Given the description of an element on the screen output the (x, y) to click on. 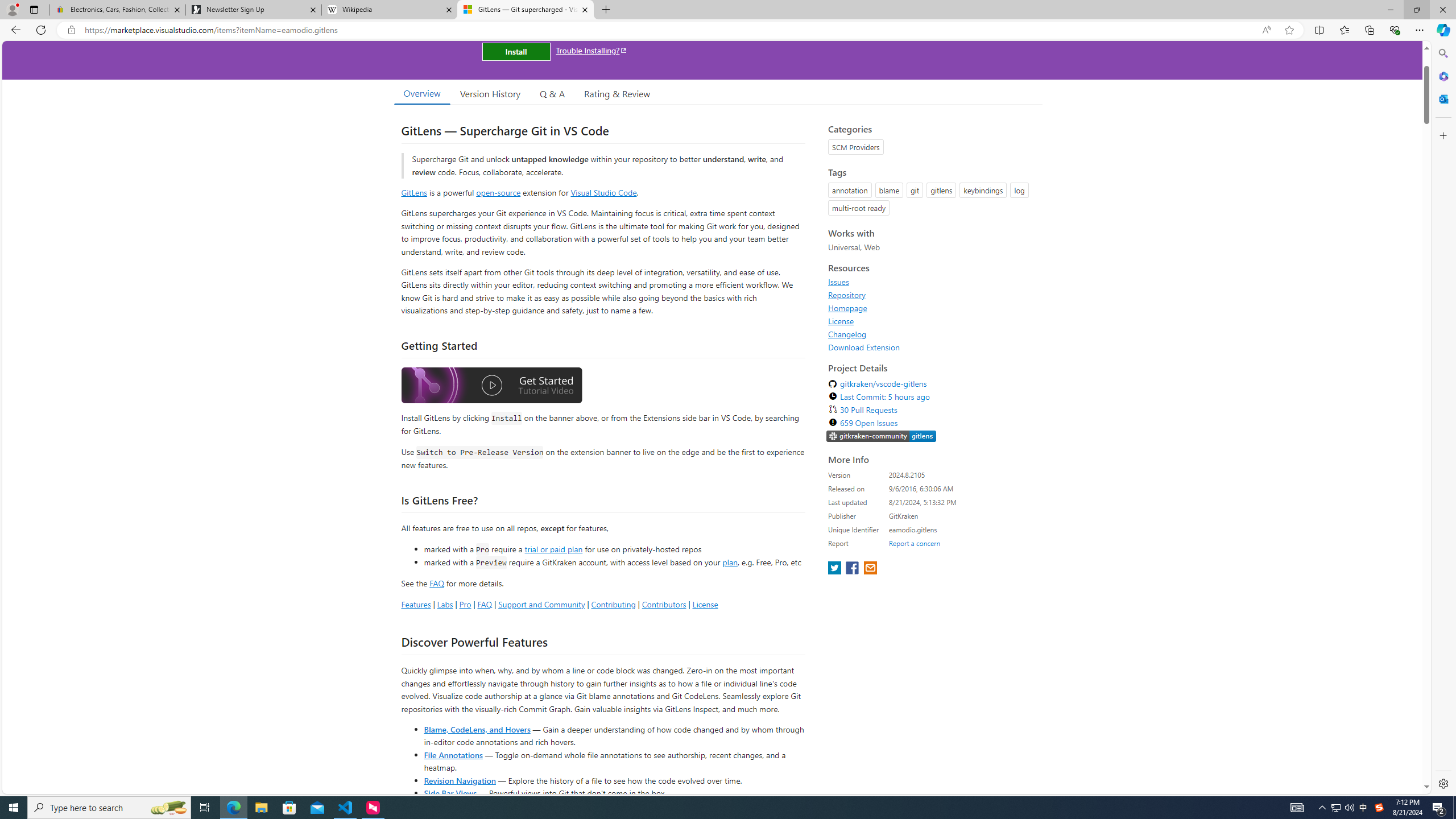
plan (730, 562)
https://slack.gitkraken.com// (881, 436)
Contributors (663, 603)
share extension on email (869, 568)
Watch the GitLens Getting Started video (491, 387)
